Given the description of an element on the screen output the (x, y) to click on. 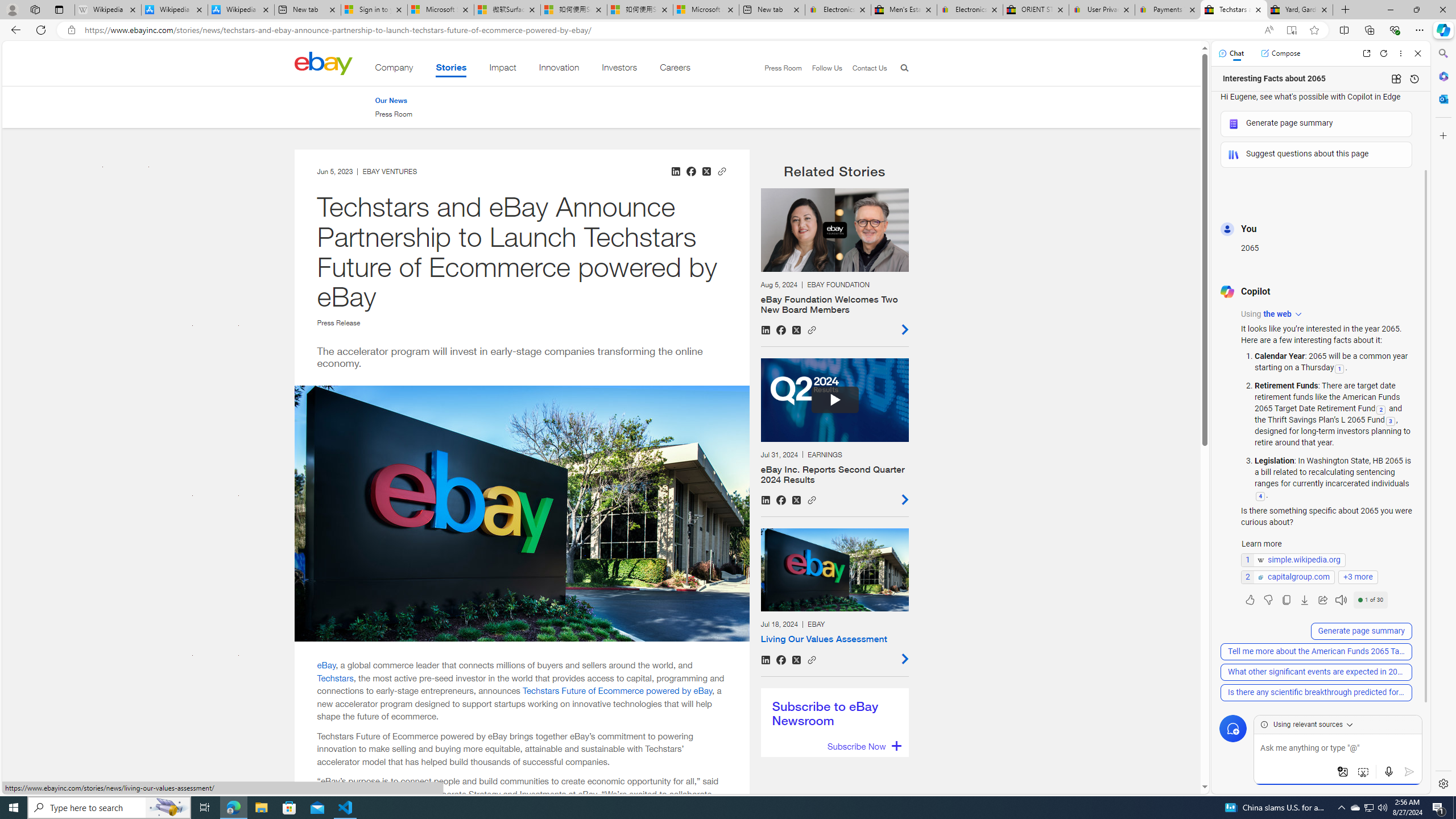
Press Room (393, 113)
User Privacy Notice | eBay (1102, 9)
Innovation (558, 69)
Copy link to clipboard (811, 658)
Stories (451, 69)
